Given the description of an element on the screen output the (x, y) to click on. 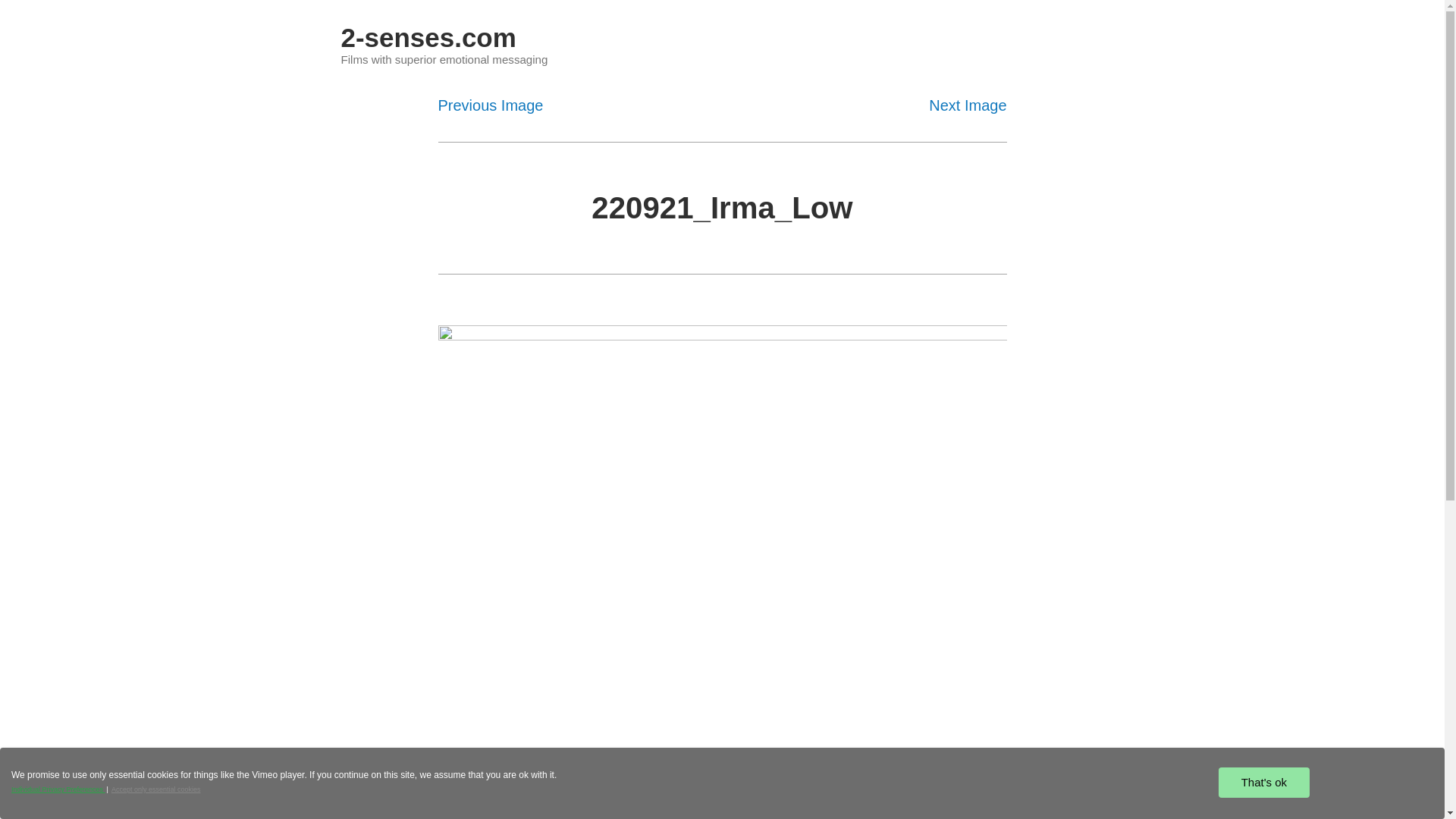
Next Image Element type: text (967, 105)
Accept only essential cookies Element type: text (155, 789)
Previous Image Element type: text (490, 105)
2-senses.com Element type: text (428, 37)
Individual Privacy Preferences Element type: text (58, 789)
That's ok Element type: text (1263, 782)
